Given the description of an element on the screen output the (x, y) to click on. 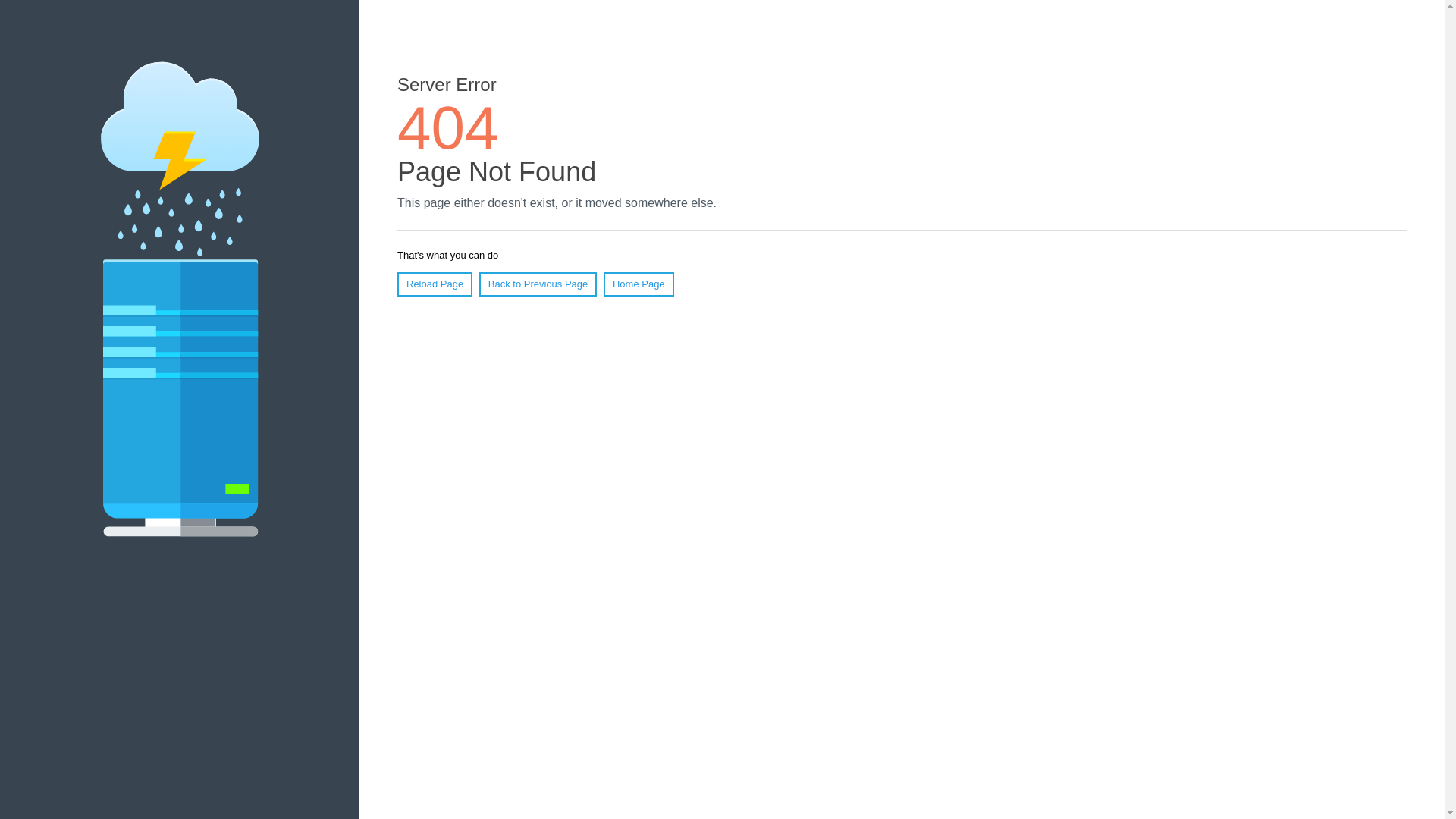
Home Page Element type: text (638, 284)
Reload Page Element type: text (434, 284)
Back to Previous Page Element type: text (538, 284)
